Given the description of an element on the screen output the (x, y) to click on. 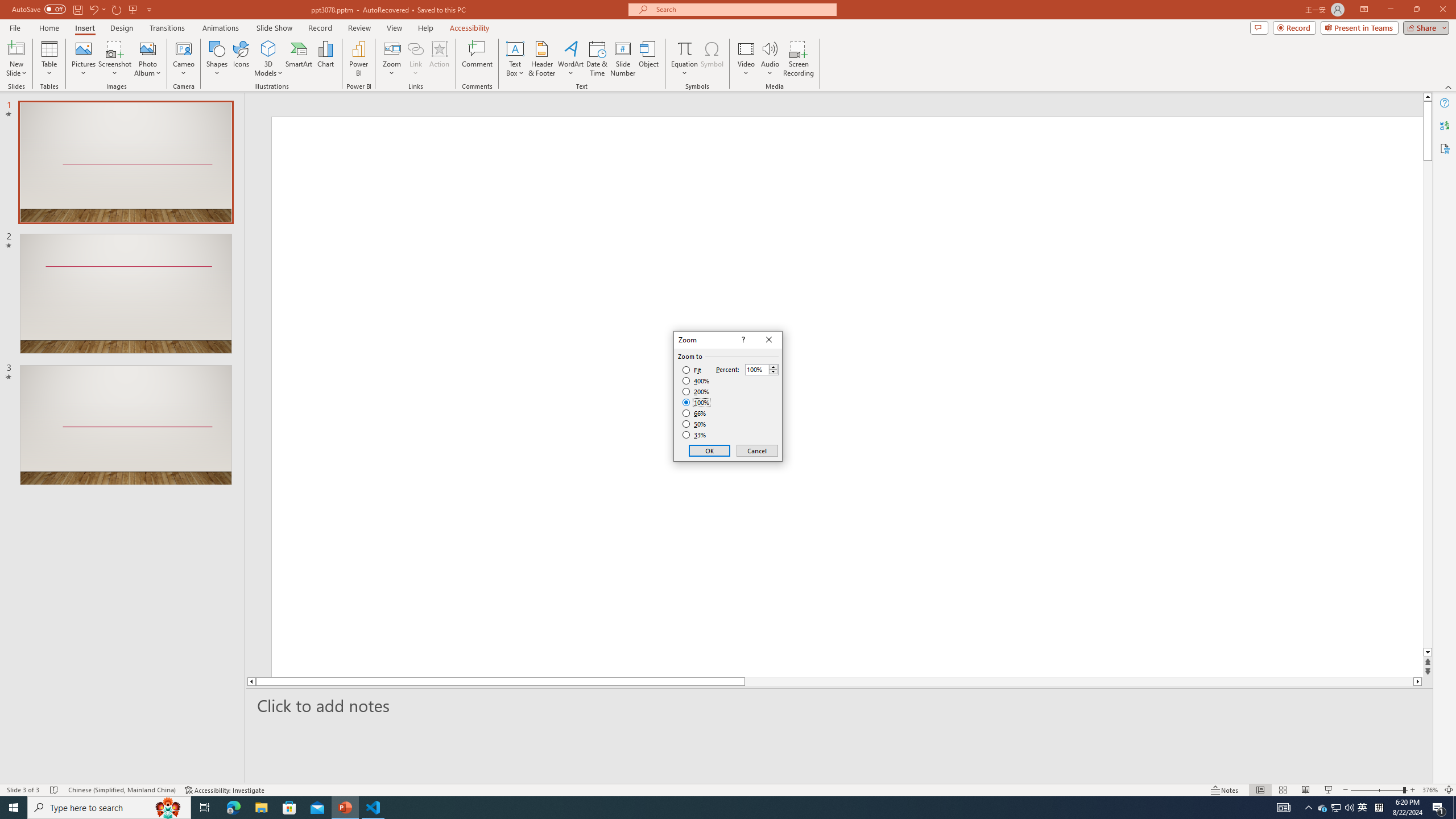
Object... (649, 58)
Slide Number (622, 58)
200% (696, 391)
